Given the description of an element on the screen output the (x, y) to click on. 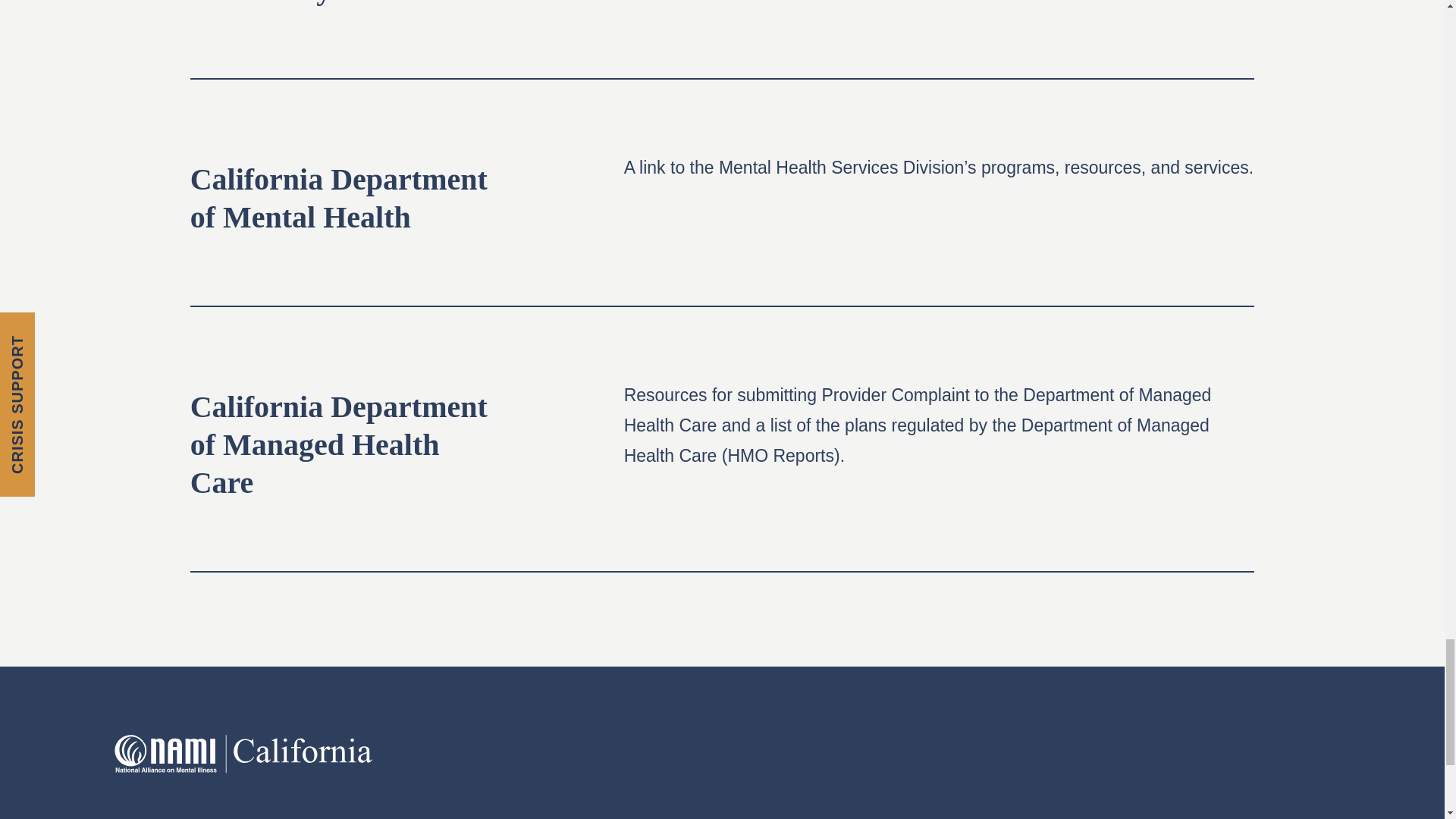
Site Logo (243, 753)
